Given the description of an element on the screen output the (x, y) to click on. 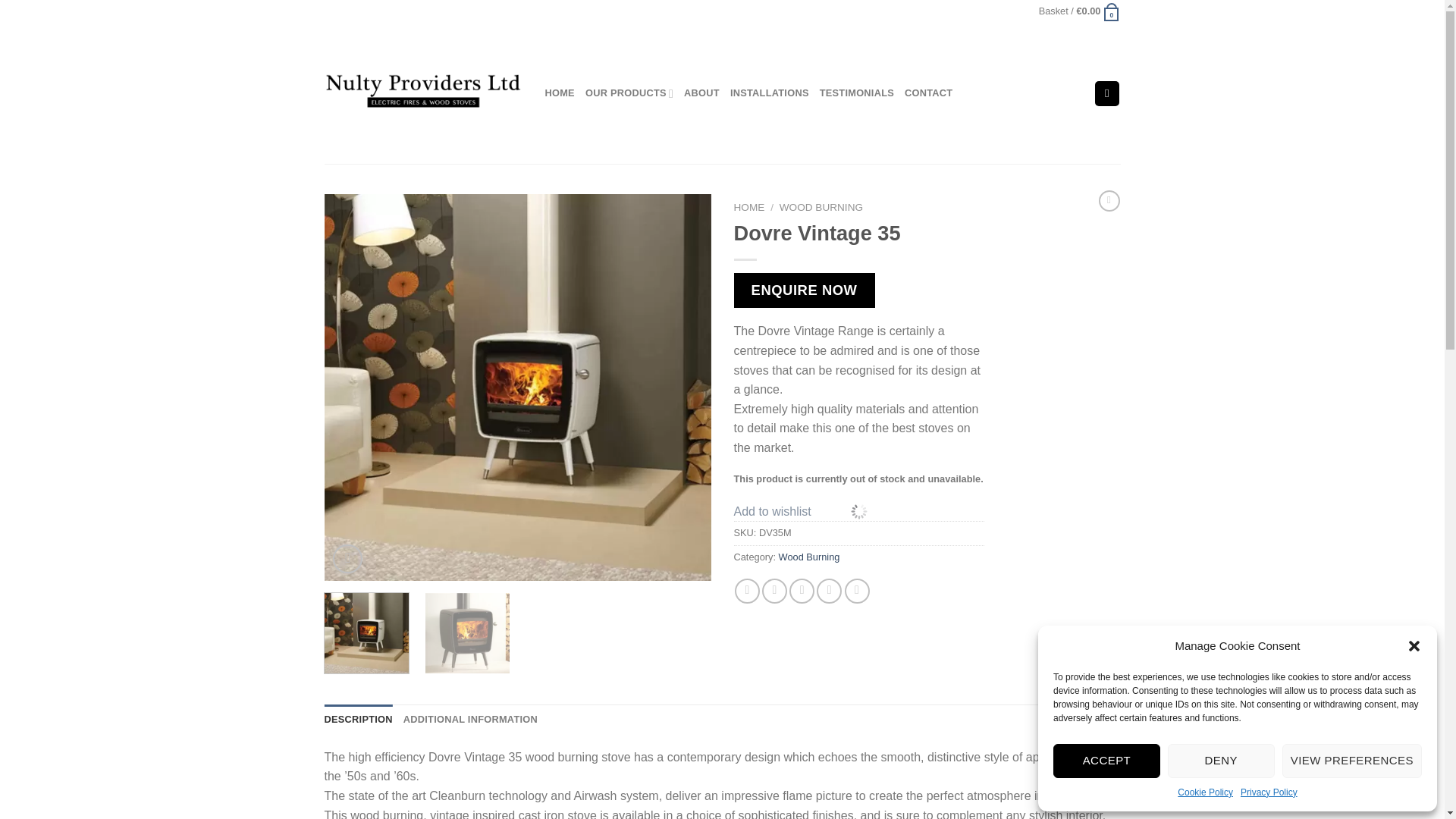
Cookie Policy (1205, 792)
INSTALLATIONS (769, 92)
HOME (558, 92)
Privacy Policy (1268, 792)
Basket (1080, 11)
ABOUT (701, 92)
CONTACT (928, 92)
TESTIMONIALS (856, 92)
DENY (1221, 760)
HOME (749, 206)
ACCEPT (1106, 760)
OUR PRODUCTS (628, 92)
VIEW PREFERENCES (1352, 760)
WOOD BURNING (820, 206)
